Given the description of an element on the screen output the (x, y) to click on. 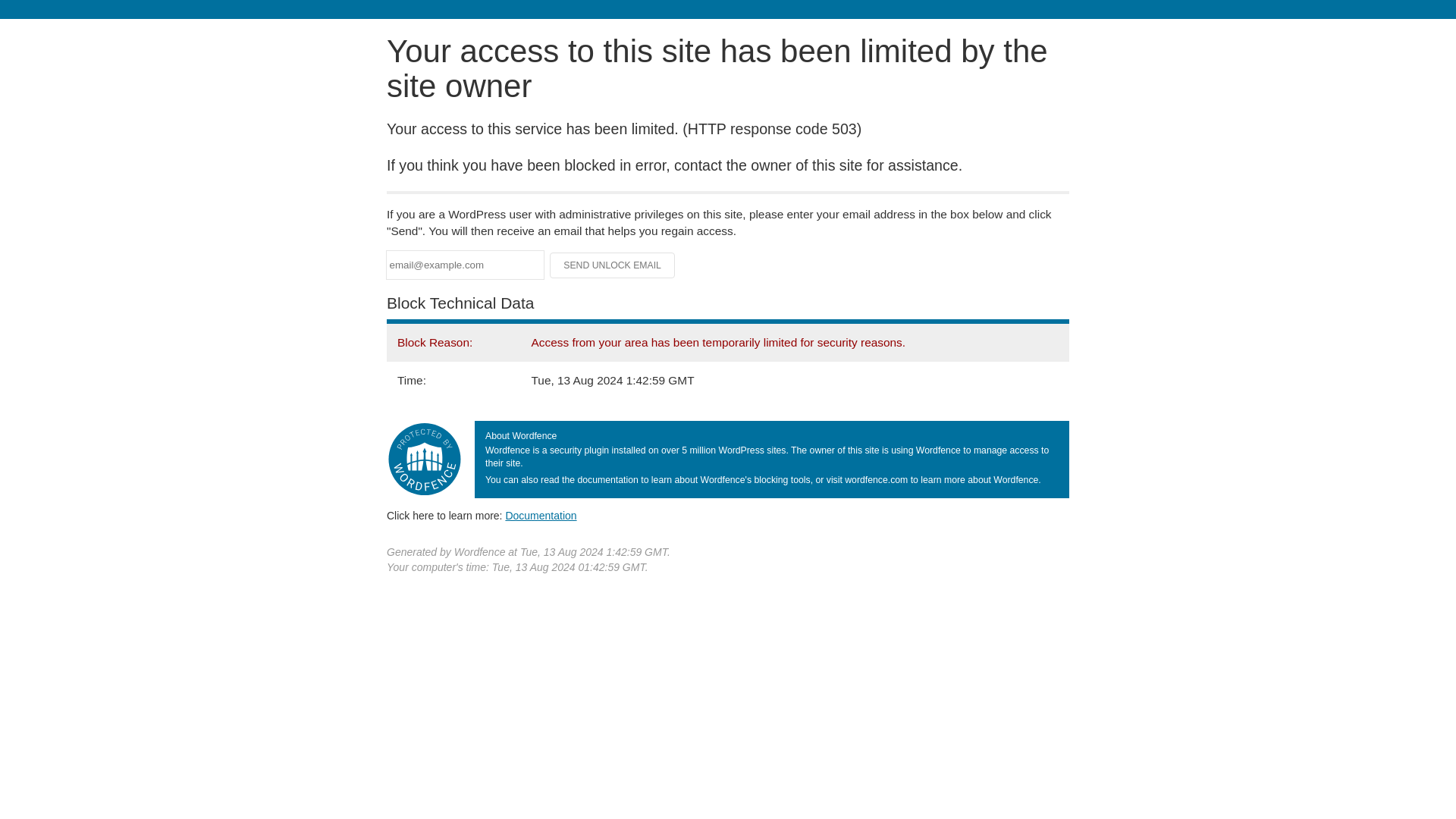
Send Unlock Email (612, 265)
Send Unlock Email (612, 265)
Documentation (540, 515)
